Given the description of an element on the screen output the (x, y) to click on. 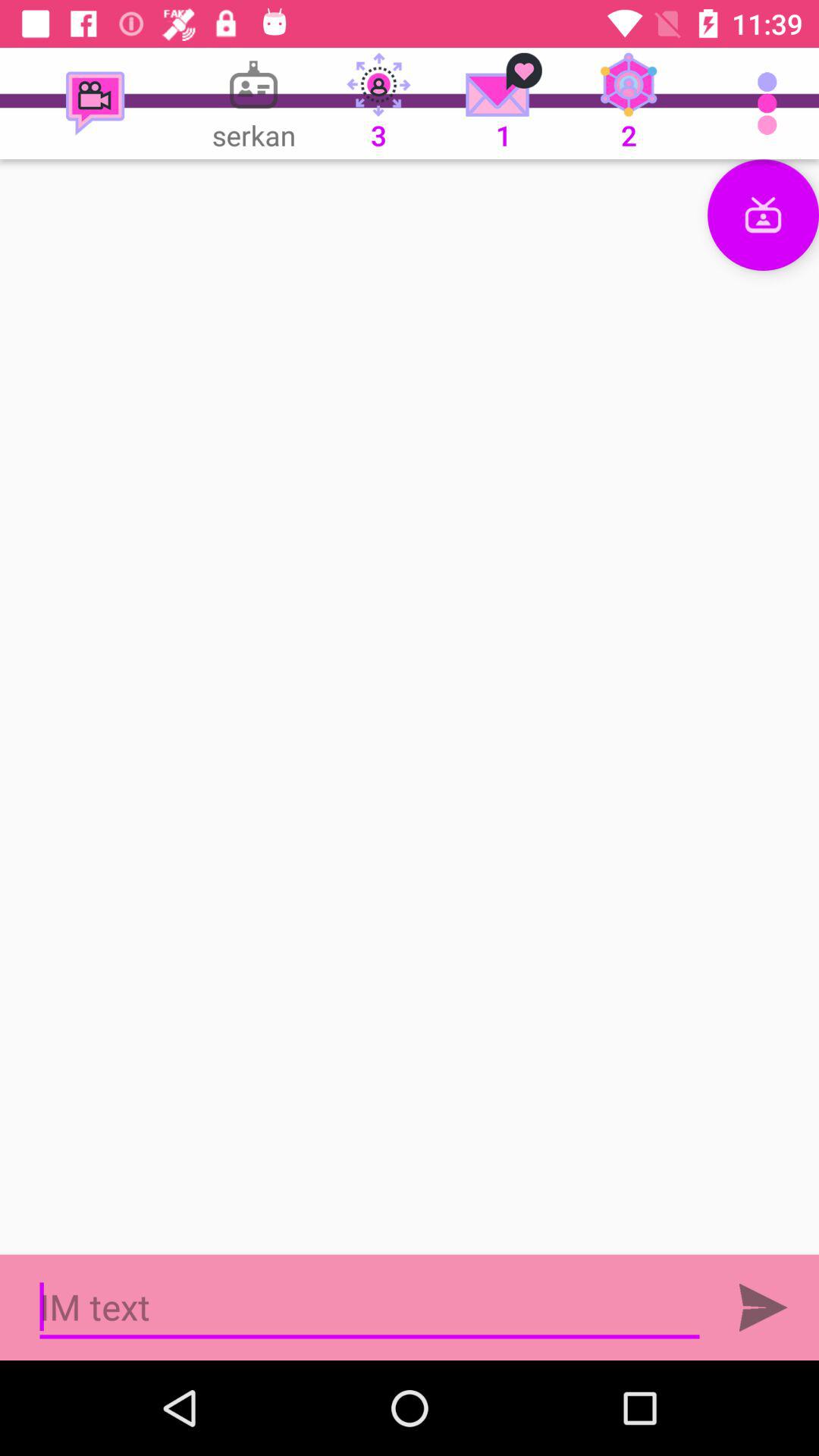
description (409, 706)
